Given the description of an element on the screen output the (x, y) to click on. 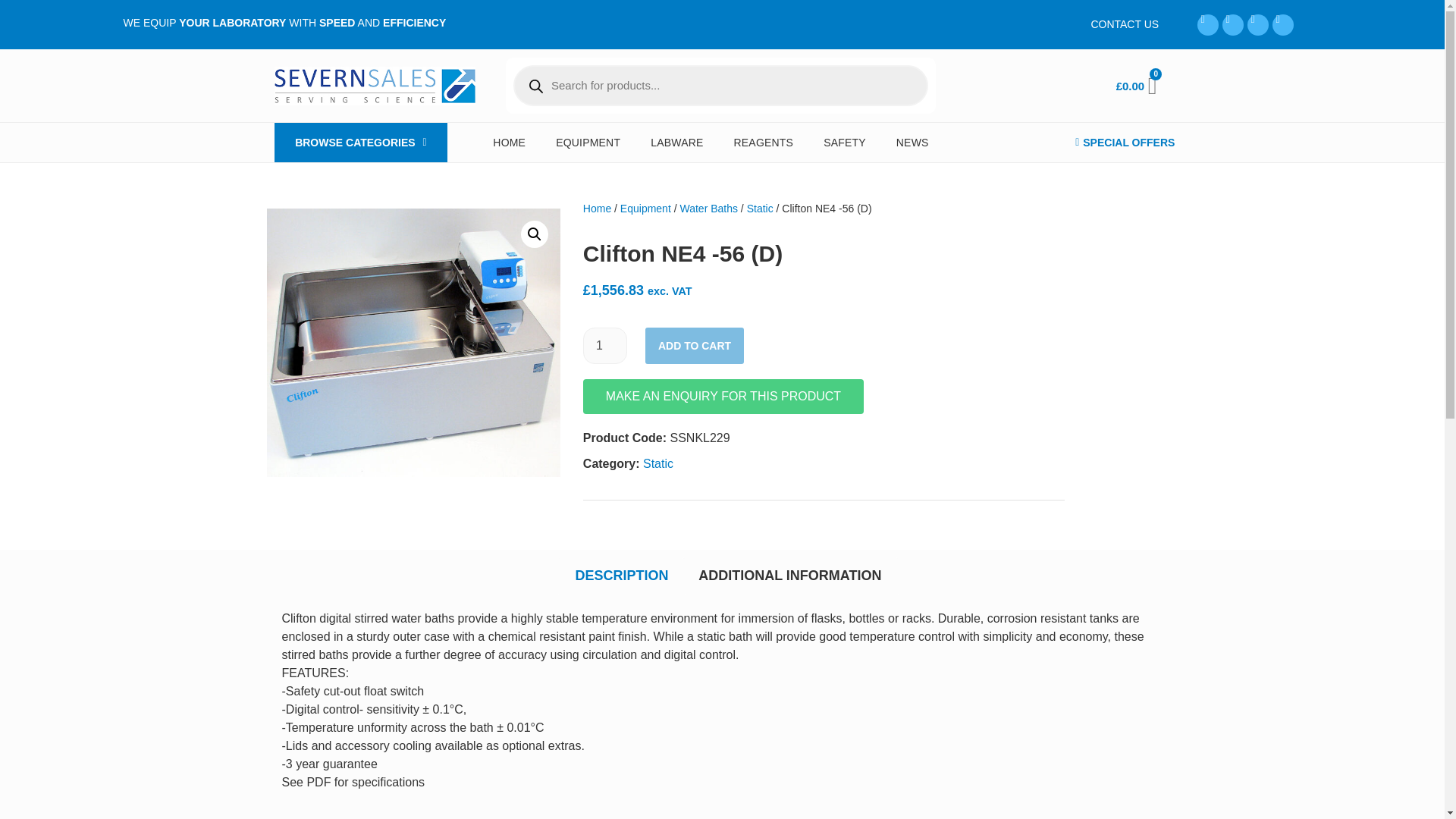
CONTACT US (1124, 24)
SAFETY (844, 142)
HOME (508, 142)
LABWARE (675, 142)
1 (605, 345)
BROWSE CATEGORIES (361, 142)
ne4-56 (413, 341)
EQUIPMENT (587, 142)
REAGENTS (764, 142)
